Given the description of an element on the screen output the (x, y) to click on. 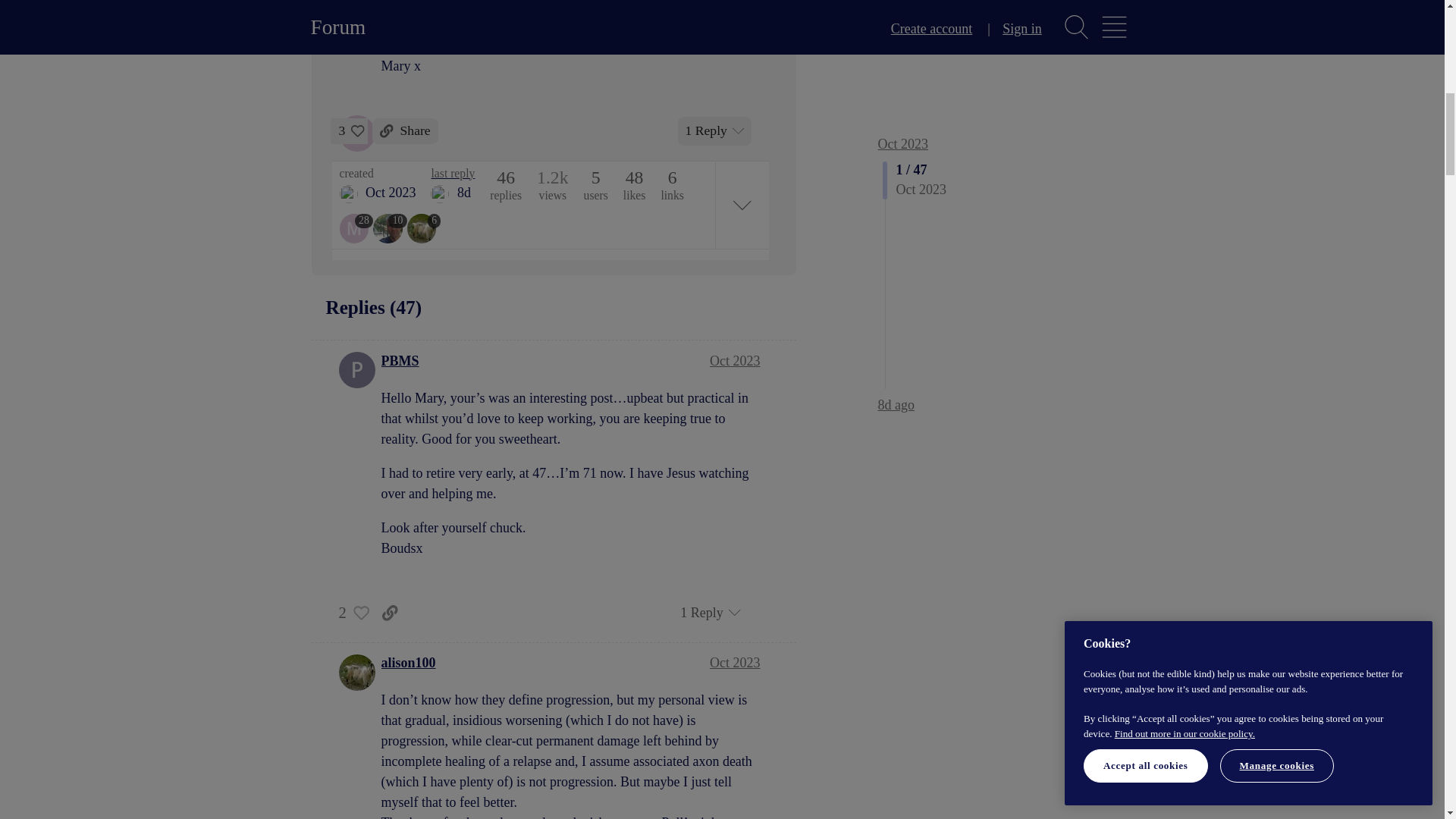
Oct 2023 (735, 360)
28 (356, 228)
marymcdermott (348, 194)
3 (349, 130)
alison100 (408, 662)
Oct 2023 (735, 662)
1 Reply (715, 131)
10 (389, 228)
marymcdermott (356, 228)
last reply (452, 173)
3 people liked this post (349, 130)
PBMS (400, 361)
6 (424, 228)
12 Jul 2024 04:09 (463, 192)
2 (349, 612)
